Given the description of an element on the screen output the (x, y) to click on. 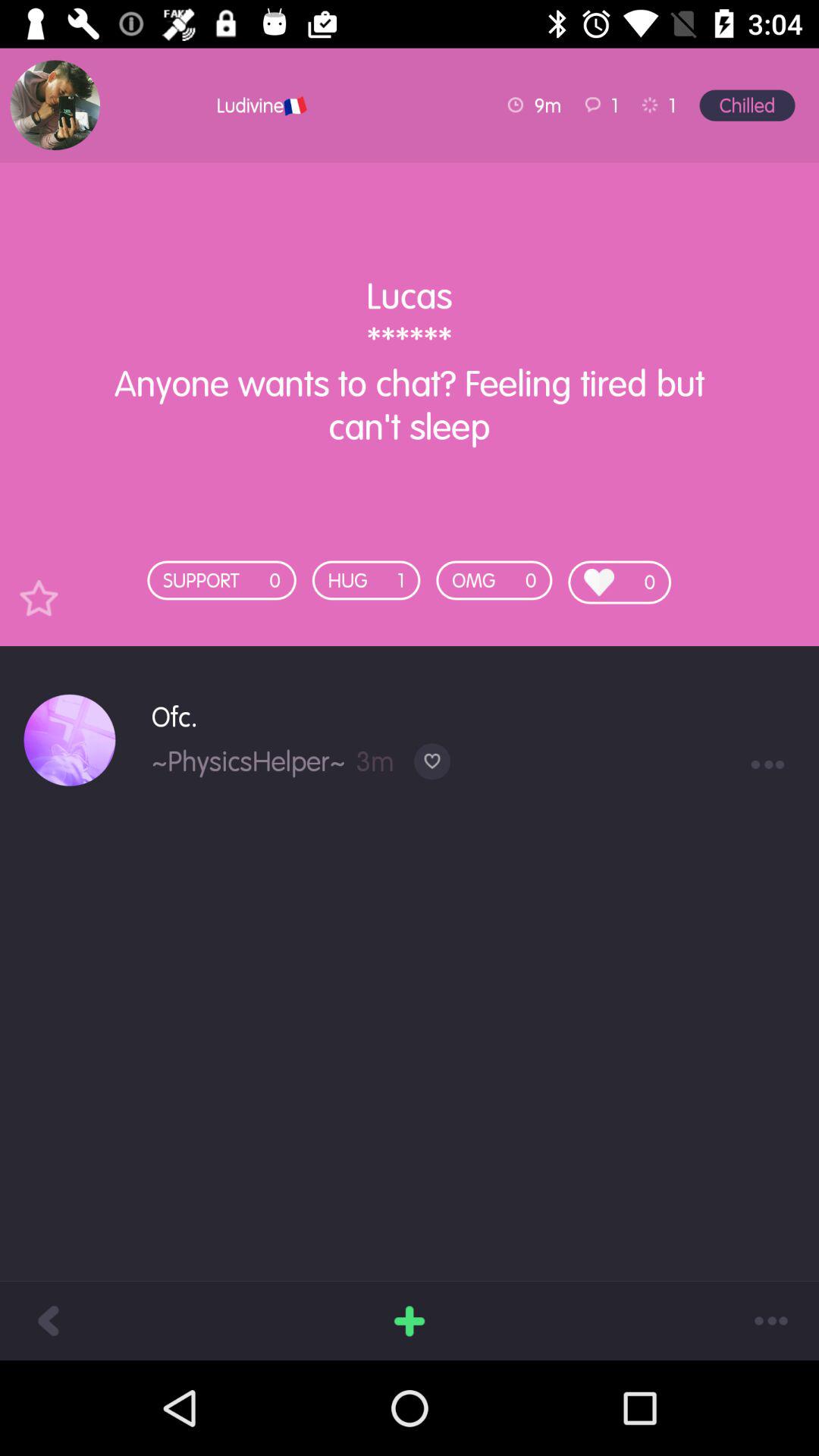
select the item next to the 3m item (248, 761)
